Given the description of an element on the screen output the (x, y) to click on. 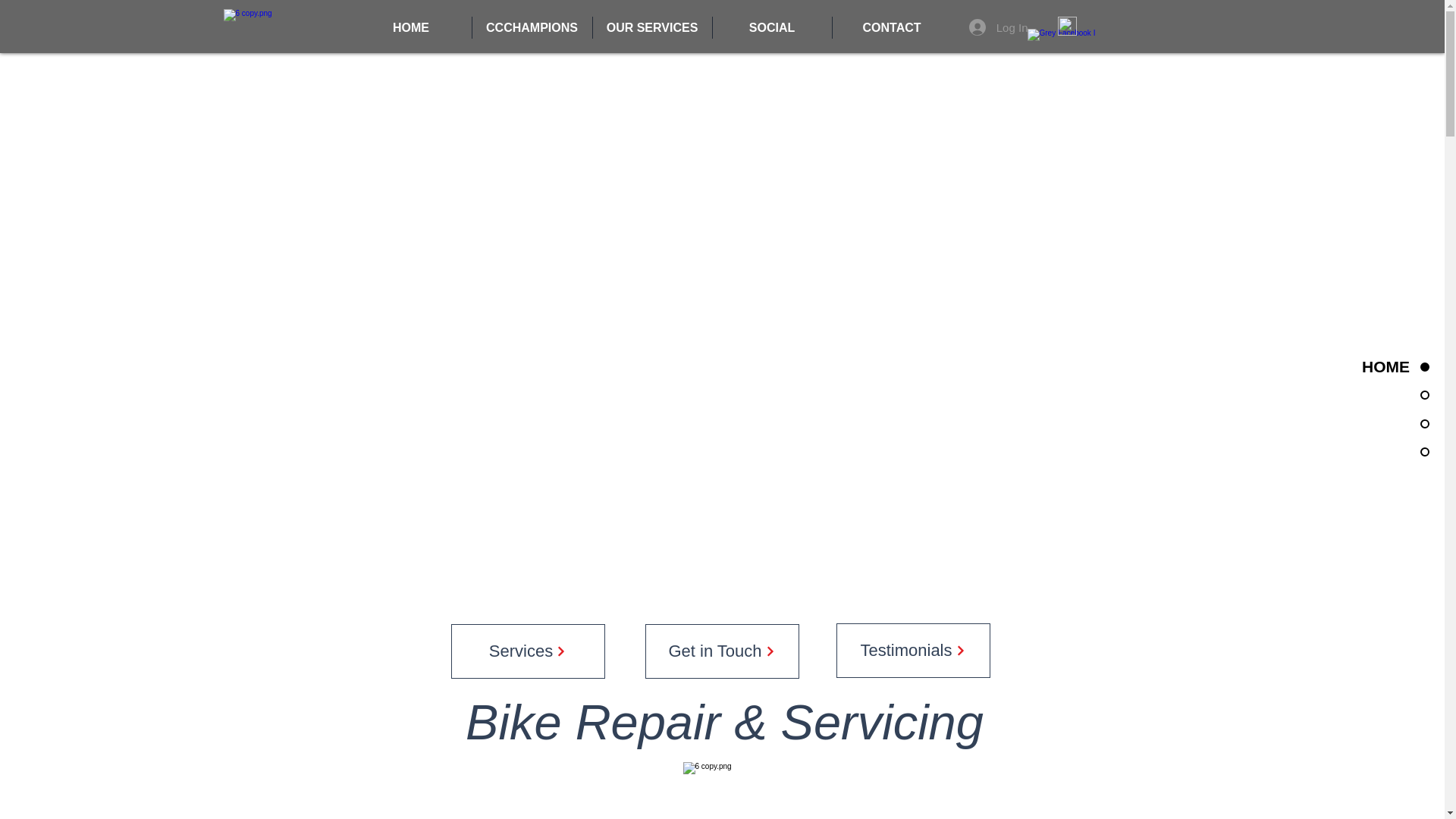
Get in Touch (721, 651)
Log In (998, 27)
HOME (1365, 366)
SOCIAL (772, 27)
Services (526, 651)
OUR SERVICES (651, 27)
Testimonials (912, 650)
CCCHAMPIONS (531, 27)
HOME (410, 27)
CONTACT (892, 27)
